Given the description of an element on the screen output the (x, y) to click on. 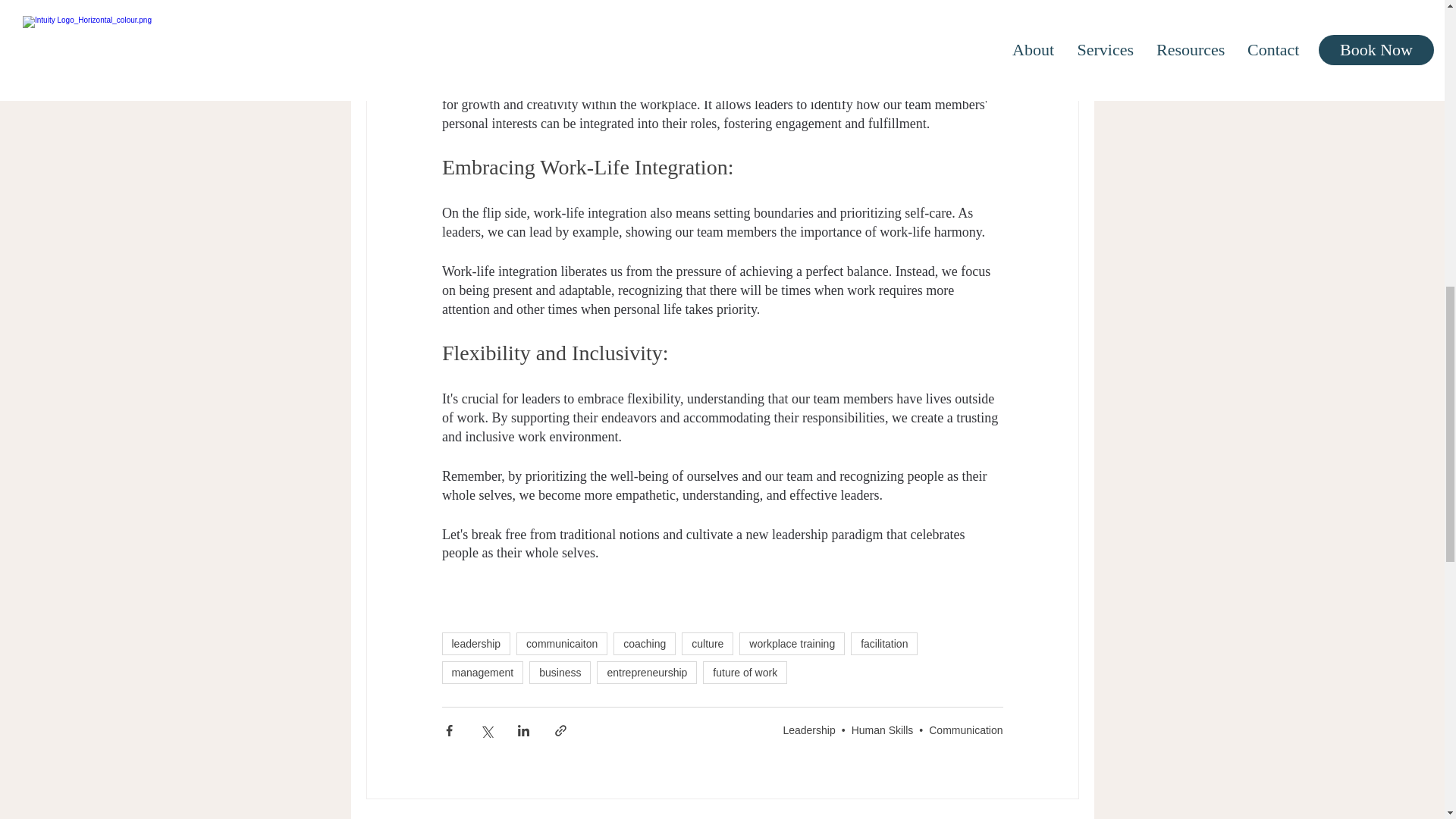
communicaiton (561, 643)
culture (707, 643)
entrepreneurship (646, 671)
leadership (476, 643)
Human Skills (882, 729)
business (560, 671)
facilitation (883, 643)
future of work (745, 671)
See All (1061, 817)
management (481, 671)
